Given the description of an element on the screen output the (x, y) to click on. 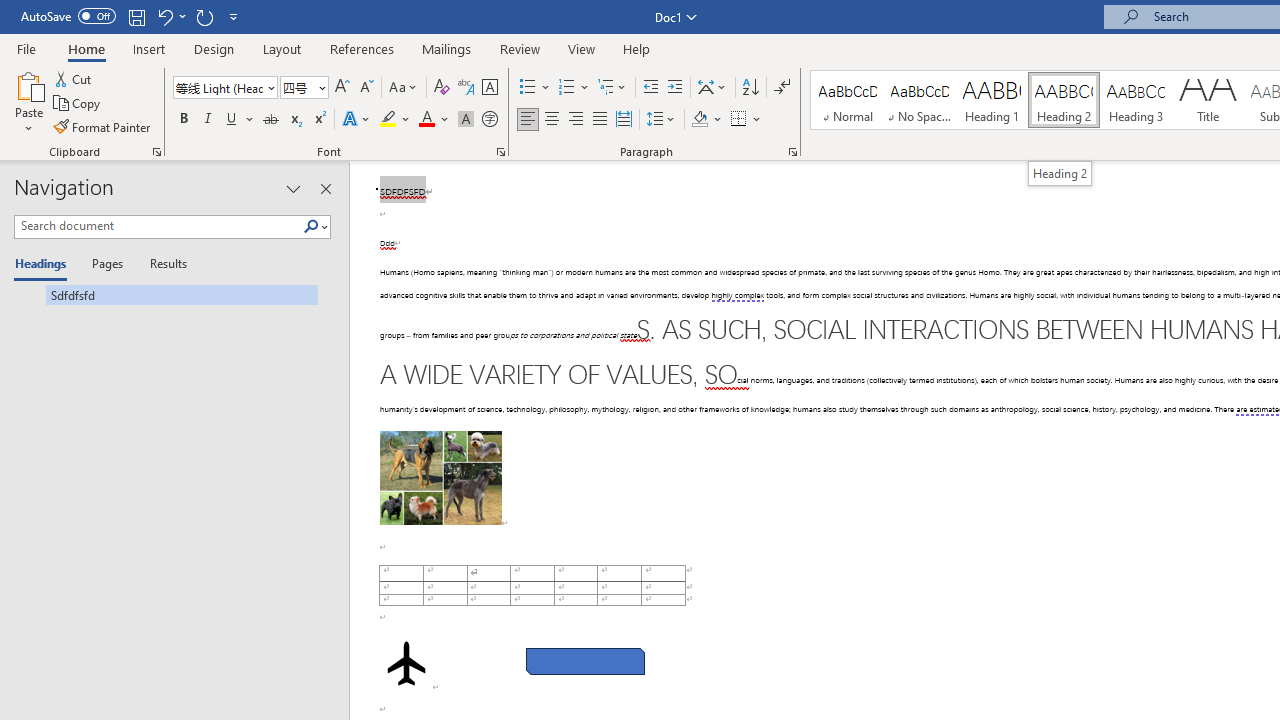
Asian Layout (712, 87)
Pages (105, 264)
Text Effects and Typography (357, 119)
Character Border (489, 87)
Heading 3 (1135, 100)
Search document (157, 226)
Format Painter (103, 126)
Bold (183, 119)
Font Color (434, 119)
Copy (78, 103)
